Given the description of an element on the screen output the (x, y) to click on. 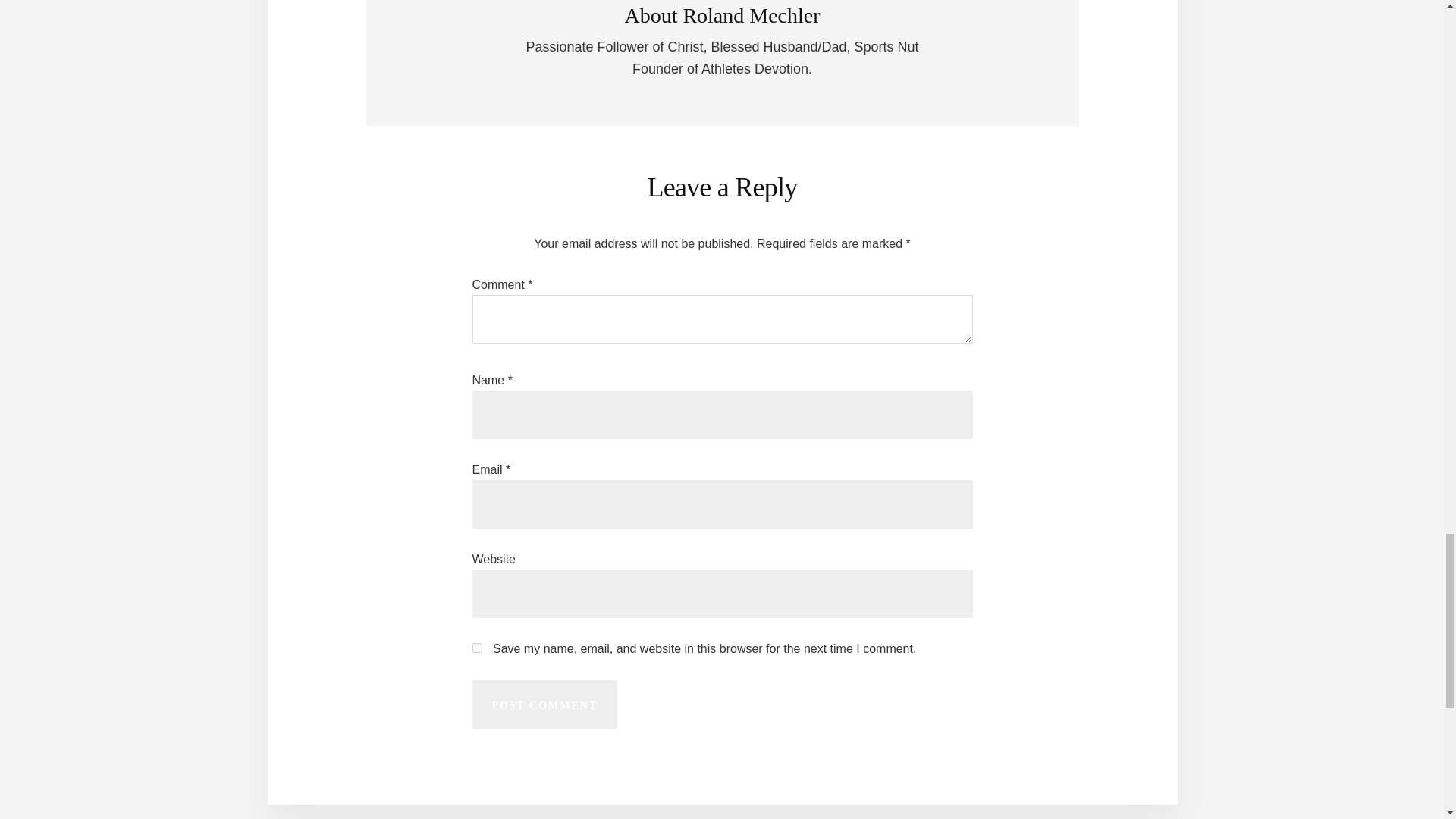
Post Comment (544, 704)
Post Comment (544, 704)
yes (476, 647)
